Given the description of an element on the screen output the (x, y) to click on. 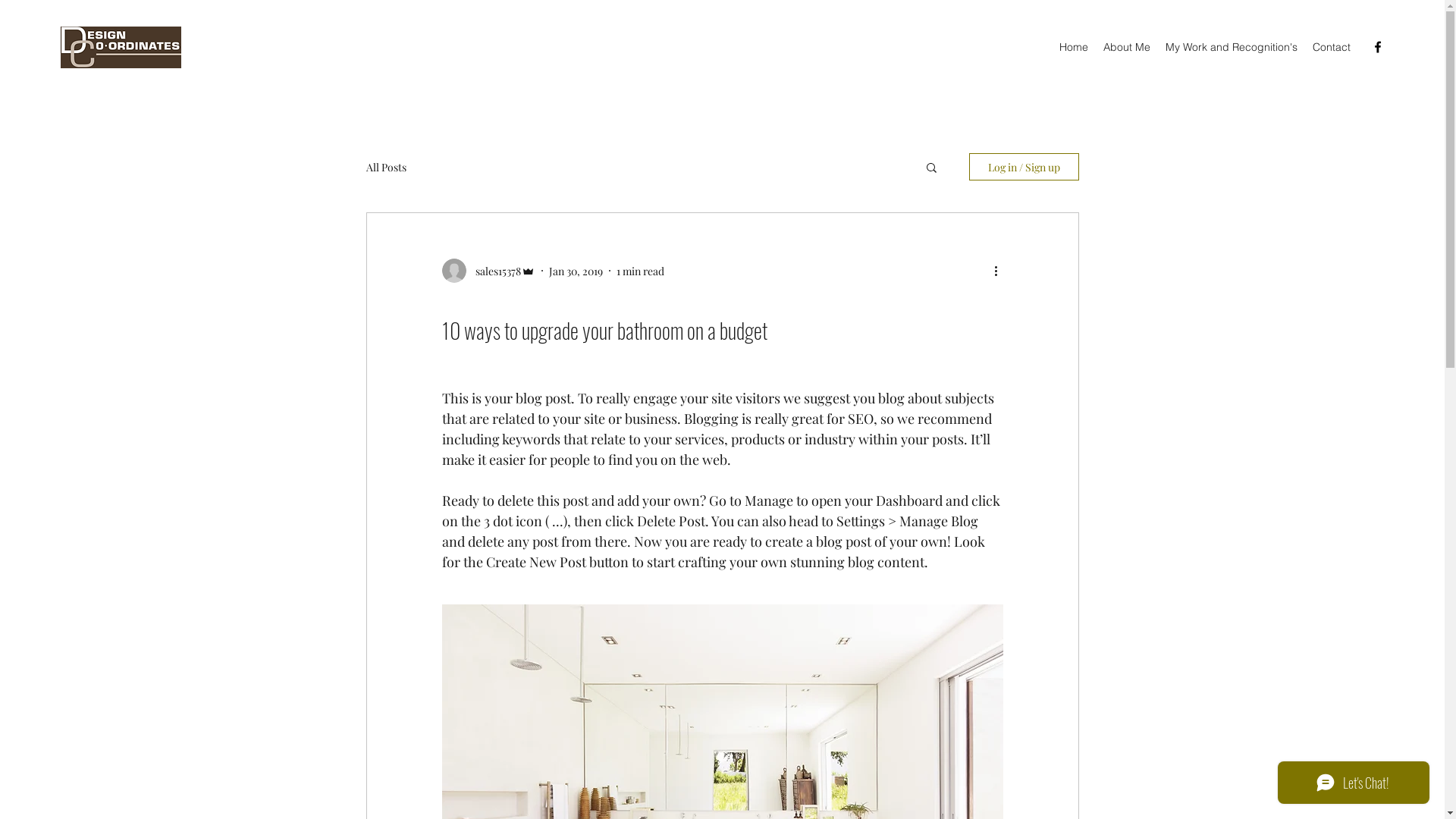
Contact Element type: text (1331, 46)
About Me Element type: text (1126, 46)
Log in / Sign up Element type: text (1024, 166)
Home Element type: text (1073, 46)
My Work and Recognition's Element type: text (1231, 46)
All Posts Element type: text (385, 166)
